Given the description of an element on the screen output the (x, y) to click on. 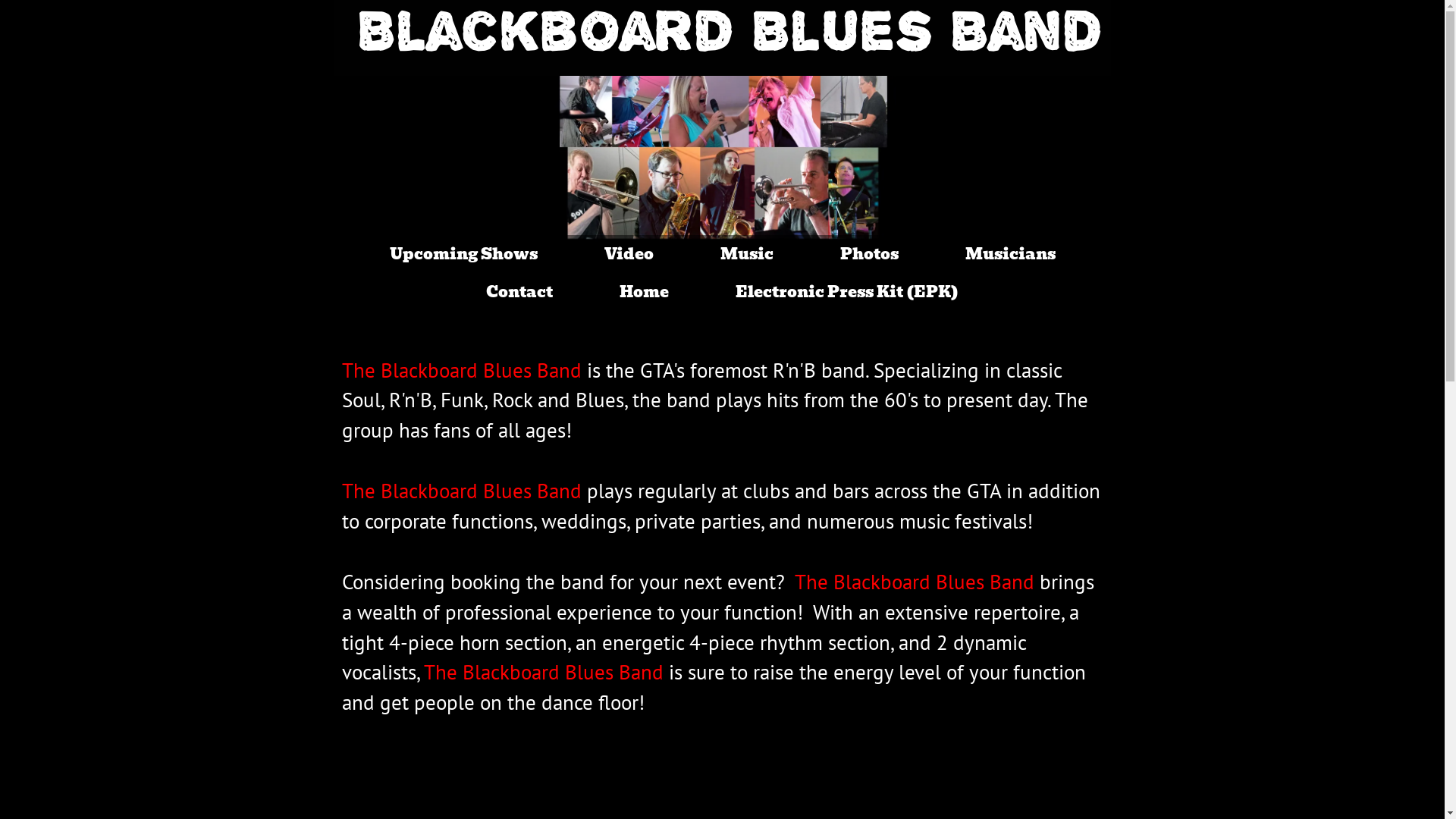
Blackboard Blues Band Element type: text (729, 44)
Electronic Press Kit (EPK) Element type: text (847, 291)
Music Element type: text (746, 254)
Contact Element type: text (519, 291)
Musicians Element type: text (1010, 254)
Upcoming Shows Element type: text (462, 254)
Photos Element type: text (868, 254)
Home Element type: text (643, 291)
Video Element type: text (628, 254)
